Given the description of an element on the screen output the (x, y) to click on. 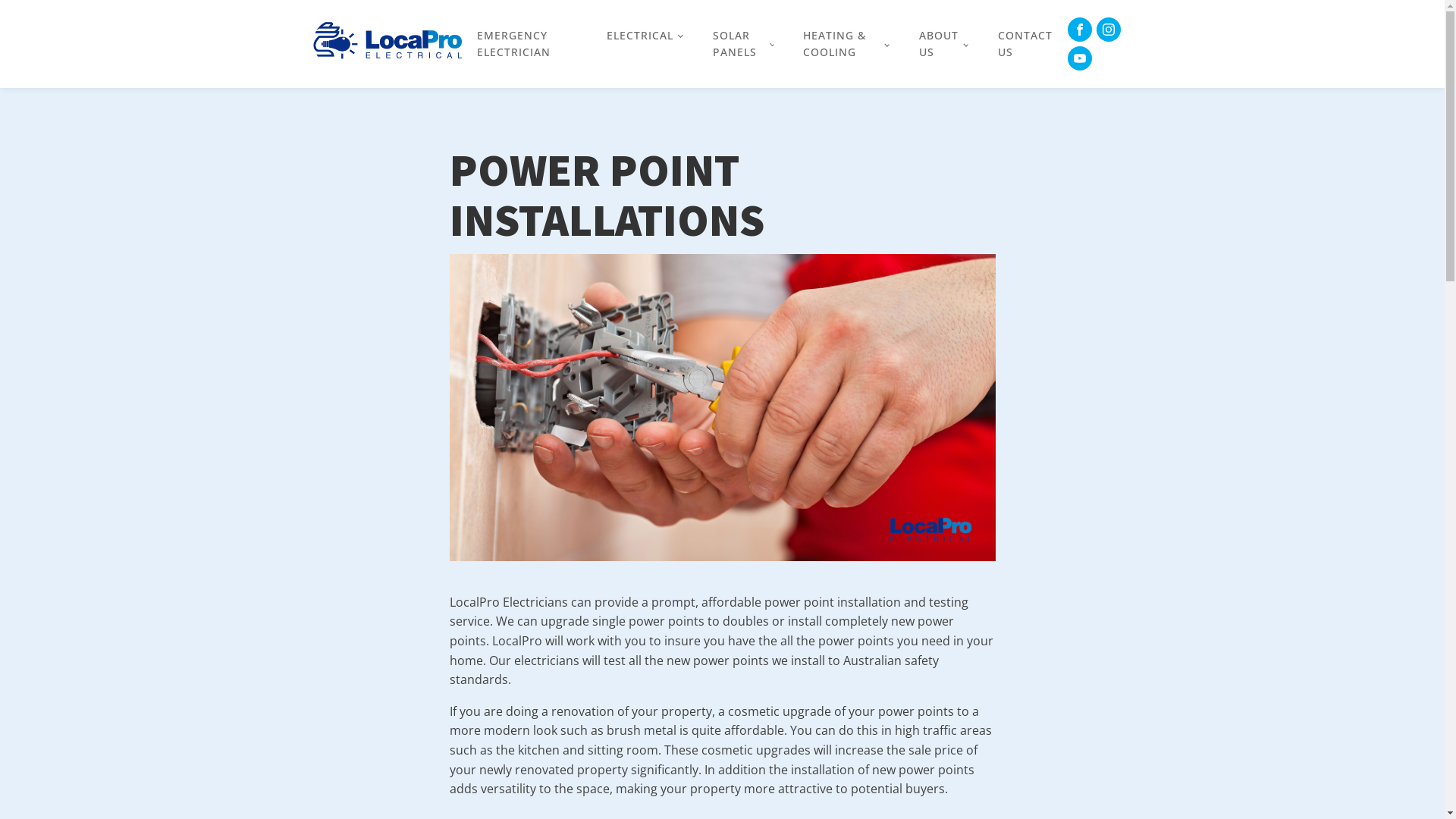
ELECTRICAL Element type: text (644, 35)
EMERGENCY ELECTRICIAN Element type: text (526, 44)
ABOUT US Element type: text (942, 44)
HEATING & COOLING Element type: text (845, 44)
CONTACT US Element type: text (1024, 44)
SOLAR PANELS Element type: text (742, 44)
